Given the description of an element on the screen output the (x, y) to click on. 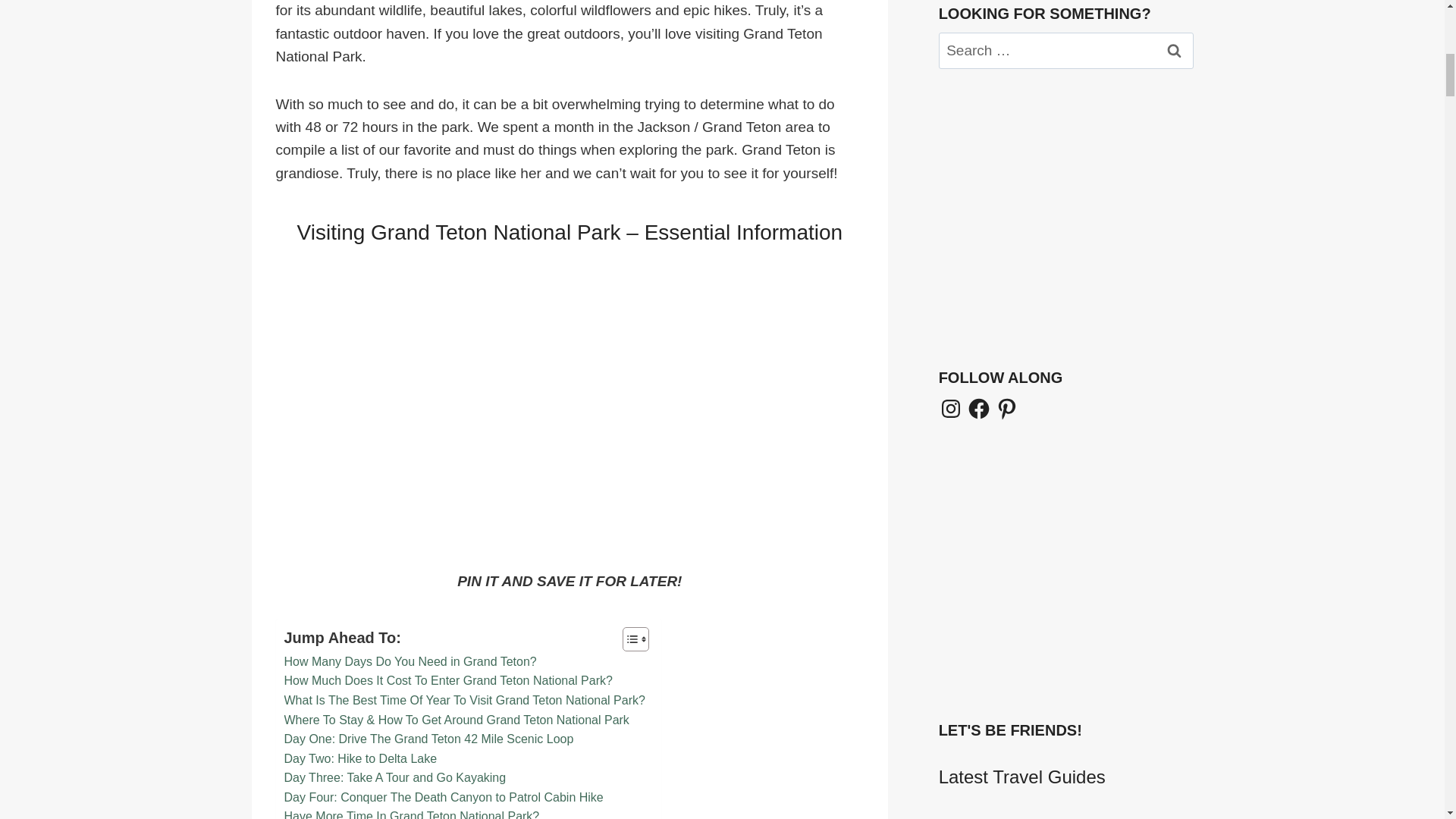
Day Three: Take A Tour and Go Kayaking (394, 777)
How Many Days Do You Need in Grand Teton? (409, 661)
How Much Does It Cost To Enter Grand Teton National Park? (447, 680)
Day Four: Conquer The Death Canyon to Patrol Cabin Hike (442, 797)
Search (1174, 50)
Day Four: Conquer The Death Canyon to Patrol Cabin Hike (442, 797)
How Many Days Do You Need in Grand Teton? (409, 661)
Day One: Drive The Grand Teton 42 Mile Scenic Loop (428, 739)
How Much Does It Cost To Enter Grand Teton National Park? (447, 680)
Day Two: Hike to Delta Lake (359, 759)
Day One: Drive The Grand Teton 42 Mile Scenic Loop (428, 739)
Day Two: Hike to Delta Lake (359, 759)
Search (1174, 50)
